Given the description of an element on the screen output the (x, y) to click on. 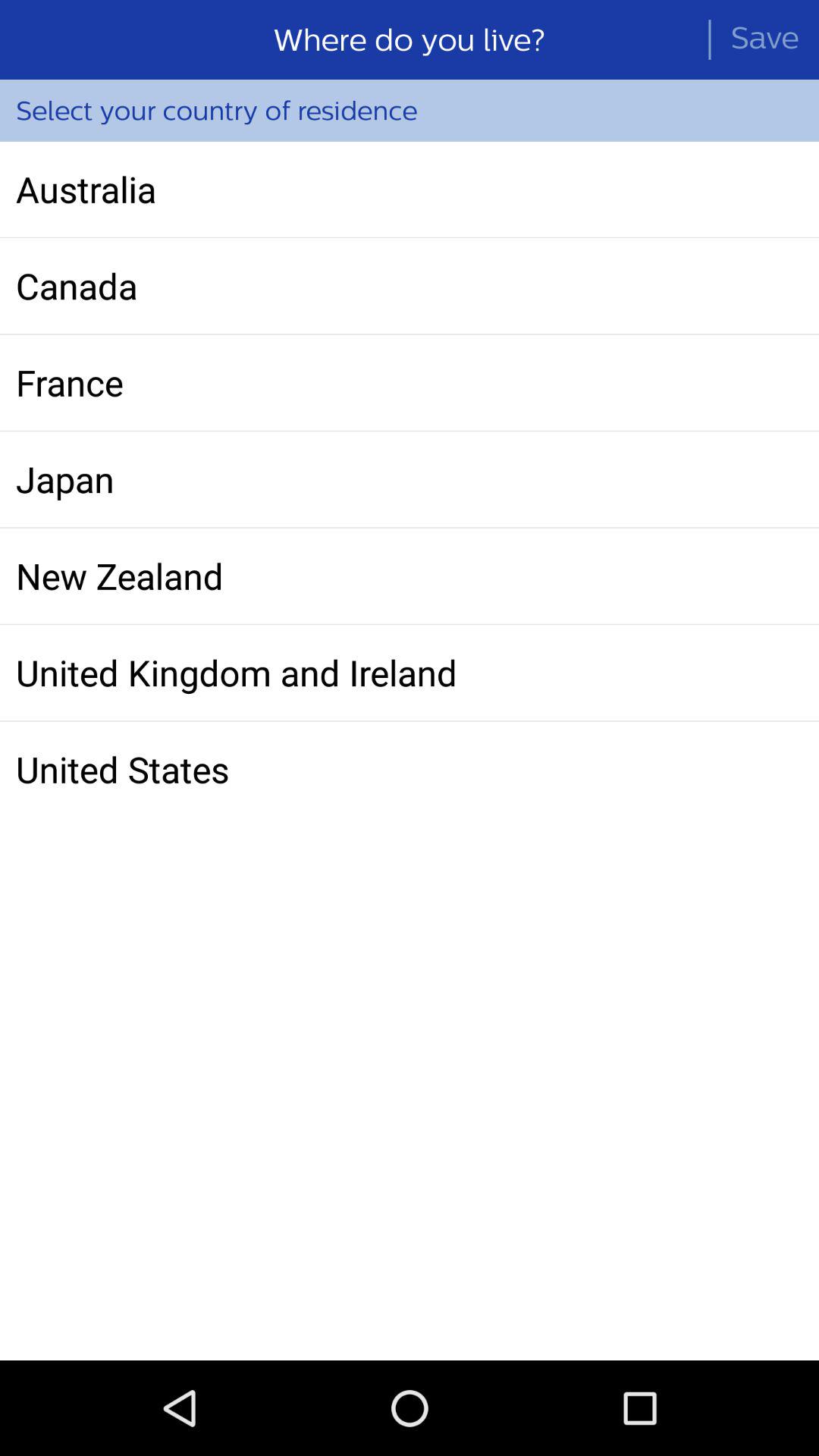
swipe to canada (409, 285)
